Given the description of an element on the screen output the (x, y) to click on. 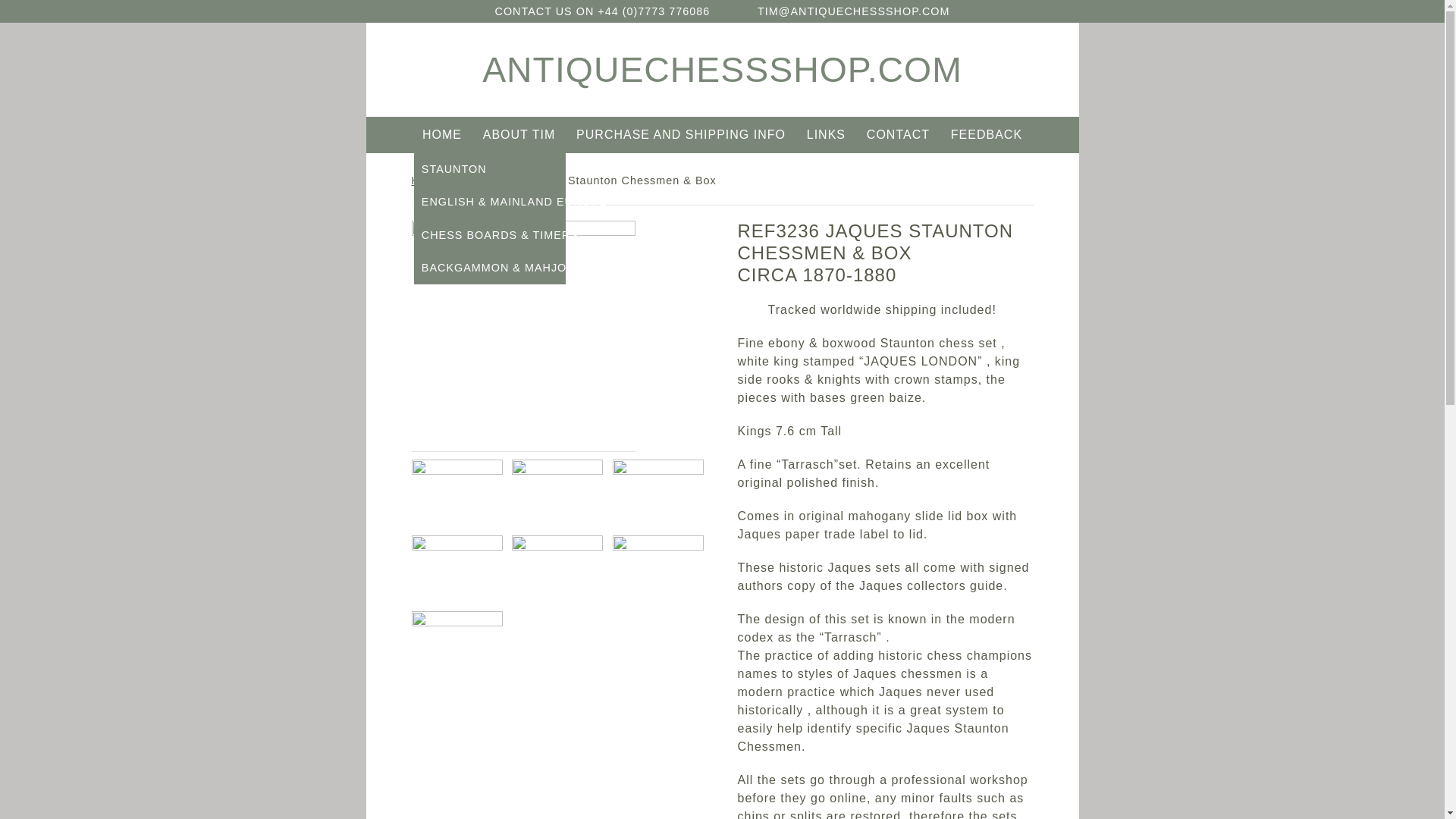
Home (426, 180)
ANTIQUECHESSSHOP.COM (721, 69)
CONTACT (899, 135)
ABOUT TIM (519, 135)
PURCHASE AND SHIPPING INFO (680, 135)
FEEDBACK (986, 135)
STAUNTON (489, 169)
HOME (441, 135)
LINKS (825, 135)
